Given the description of an element on the screen output the (x, y) to click on. 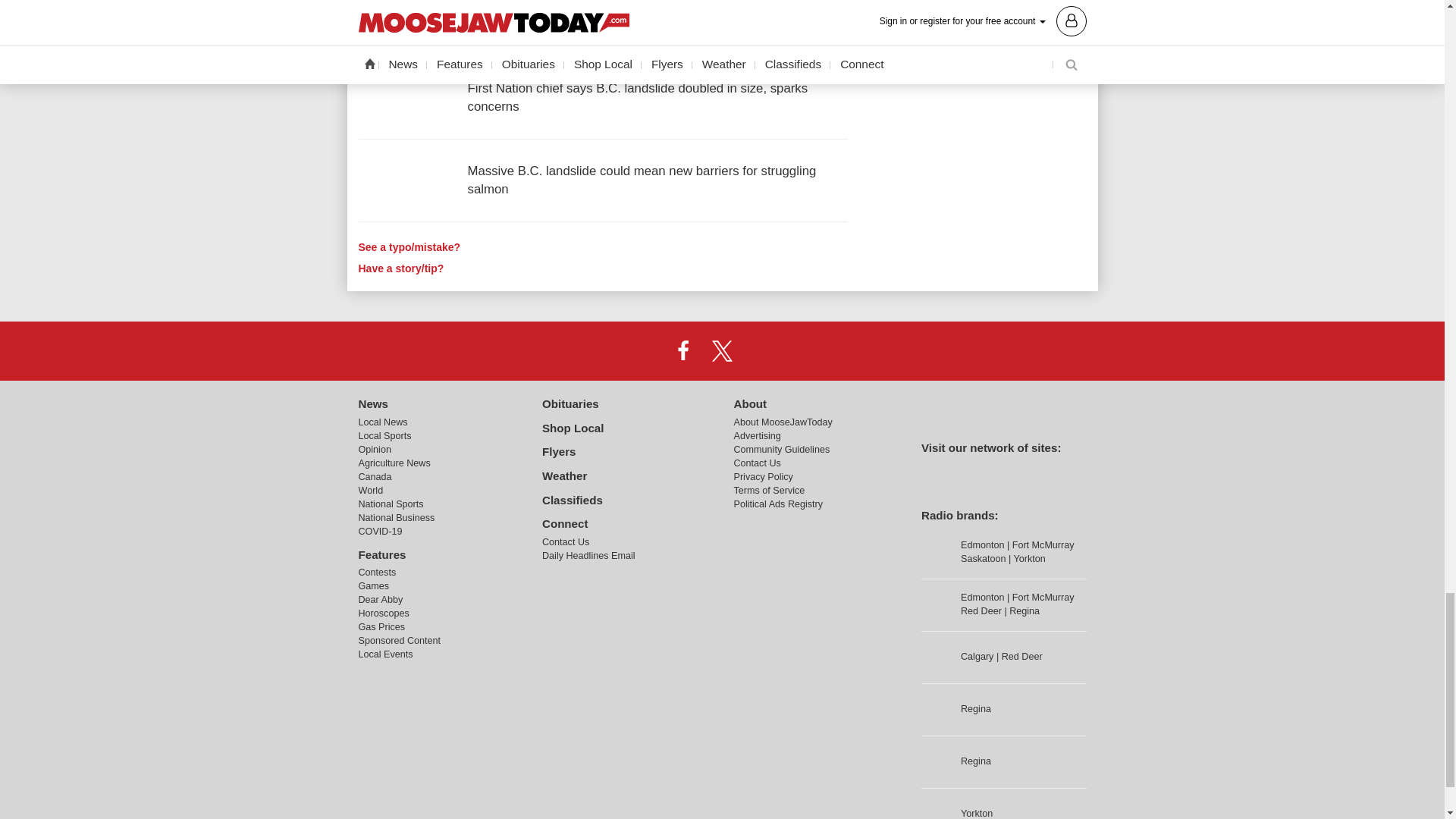
X (721, 350)
Instagram (760, 350)
Facebook (683, 350)
